Given the description of an element on the screen output the (x, y) to click on. 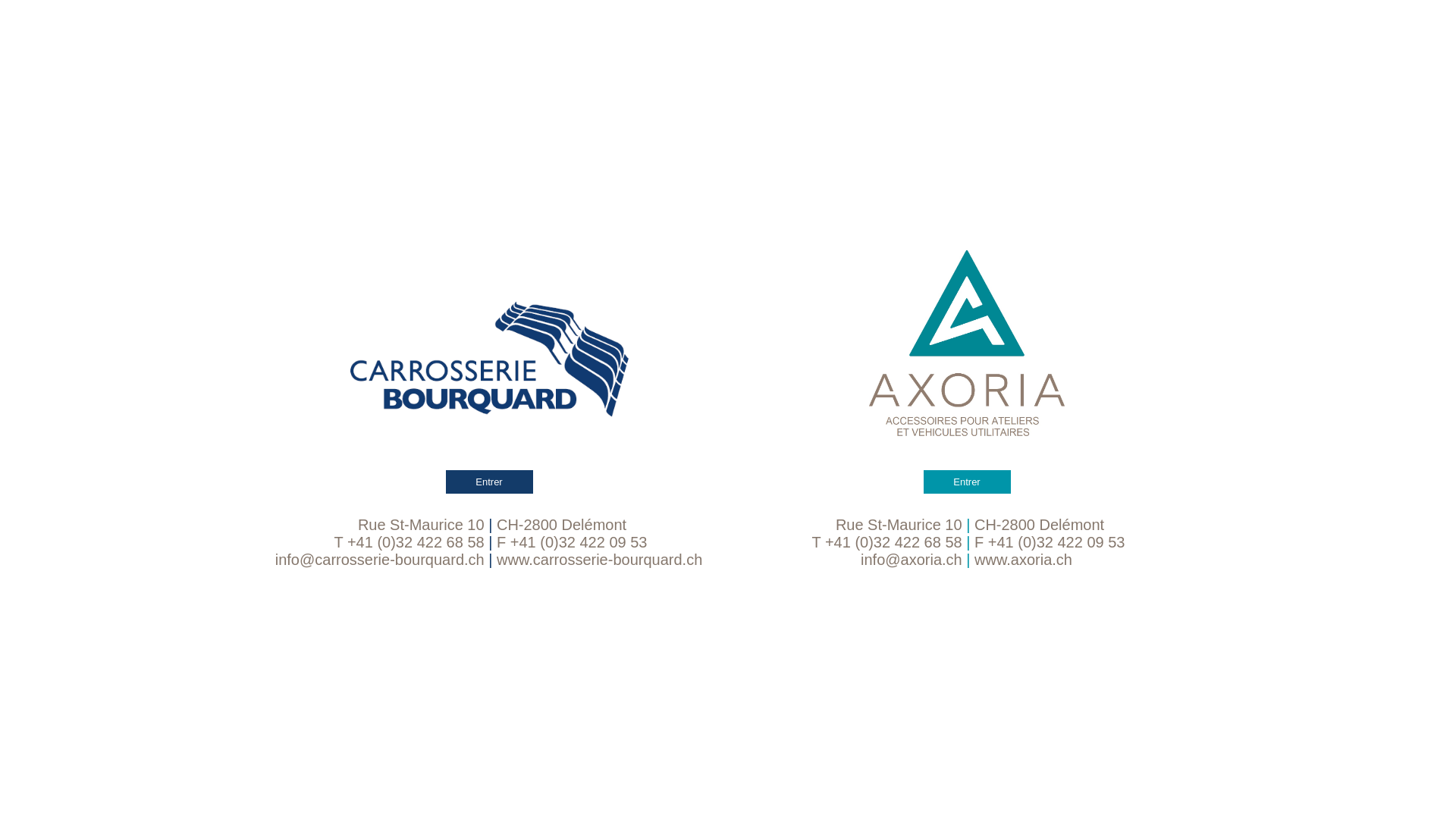
www.axoria.ch Element type: text (1023, 559)
info@axoria.ch Element type: text (911, 559)
www.carrosserie-bourquard.ch Element type: text (599, 559)
info@carrosserie-bourquard.ch Element type: text (379, 559)
Entrer Element type: text (966, 371)
Entrer Element type: text (488, 371)
